Given the description of an element on the screen output the (x, y) to click on. 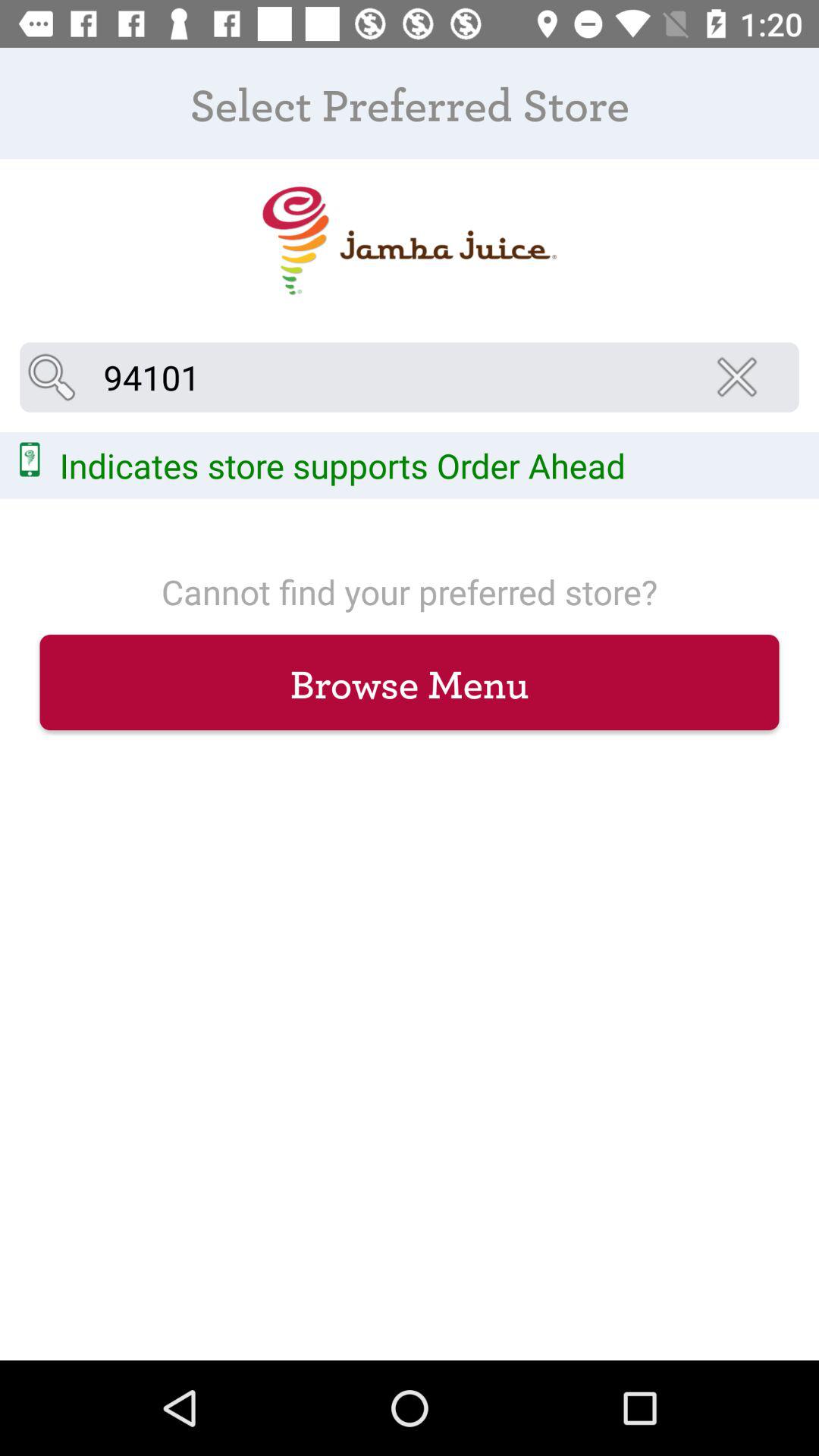
press the item above 94101 (408, 240)
